Given the description of an element on the screen output the (x, y) to click on. 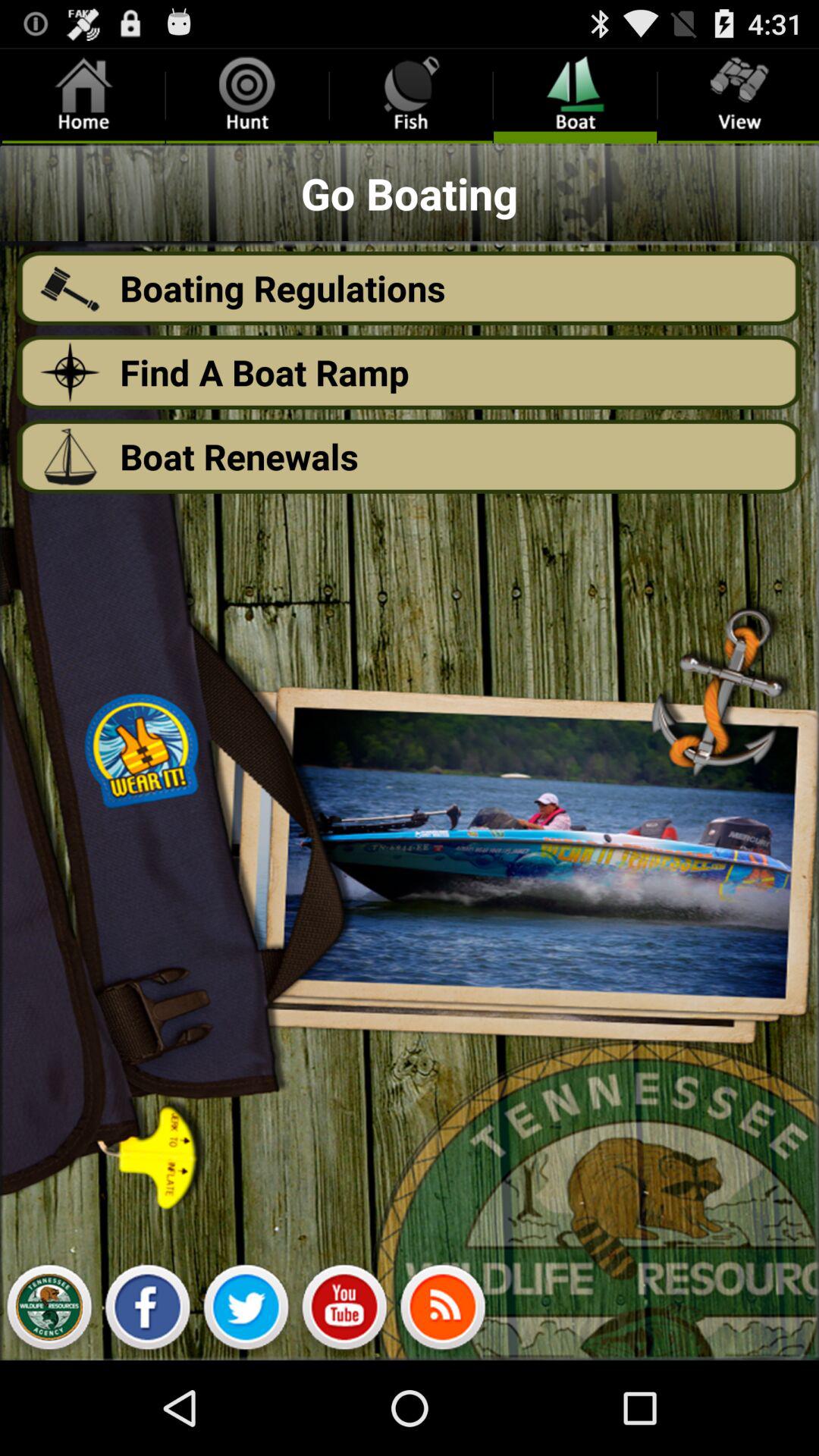
twitter link (245, 1311)
